Given the description of an element on the screen output the (x, y) to click on. 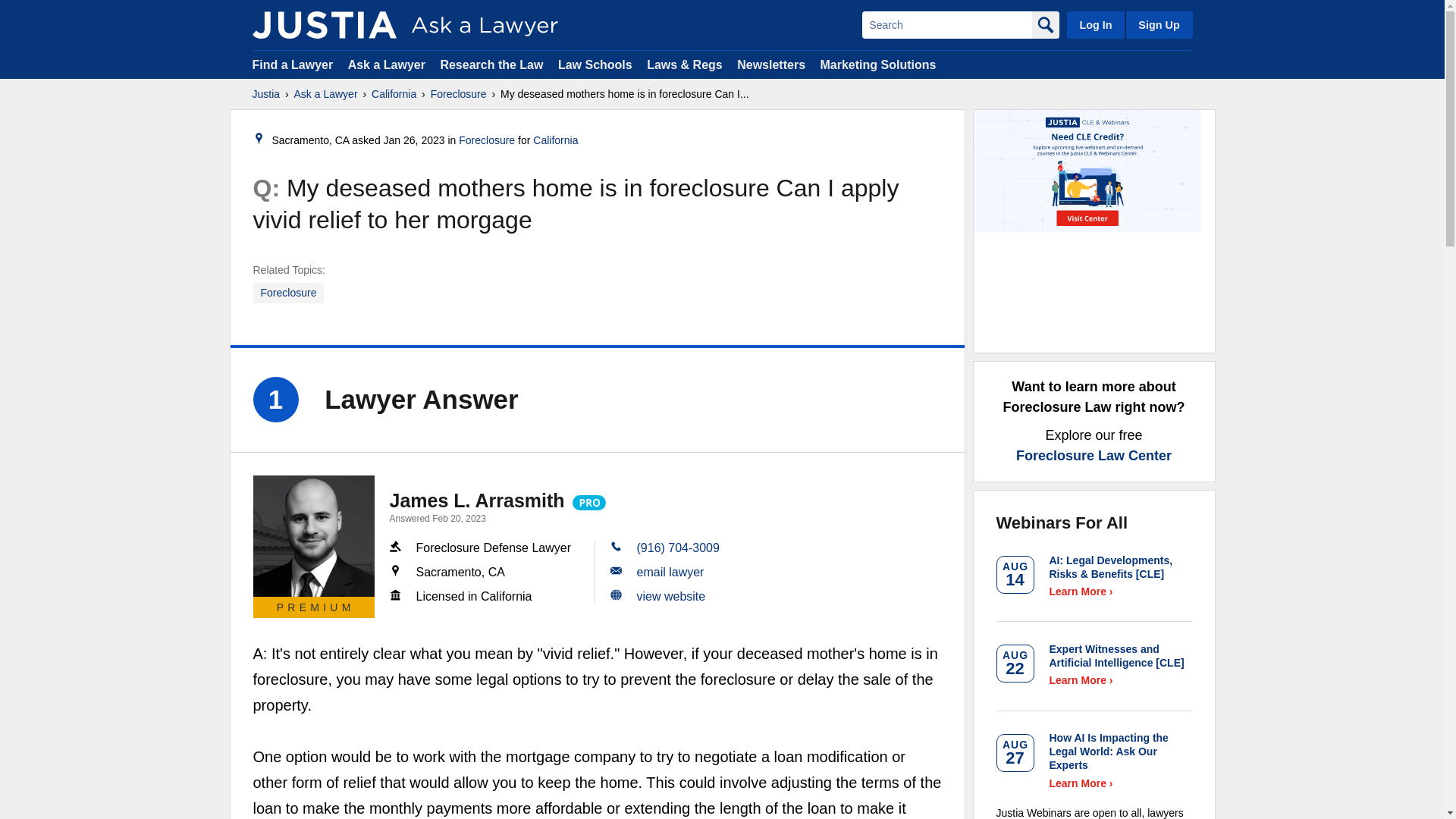
Law Schools (594, 64)
view website (671, 595)
Foreclosure (458, 93)
2023-01-26T02:16:15-08:00 (414, 140)
James L. Arrasmith (477, 500)
Log In (1094, 24)
Foreclosure (486, 140)
Ask a Lawyer (326, 93)
email lawyer (670, 571)
Justia (323, 24)
